Given the description of an element on the screen output the (x, y) to click on. 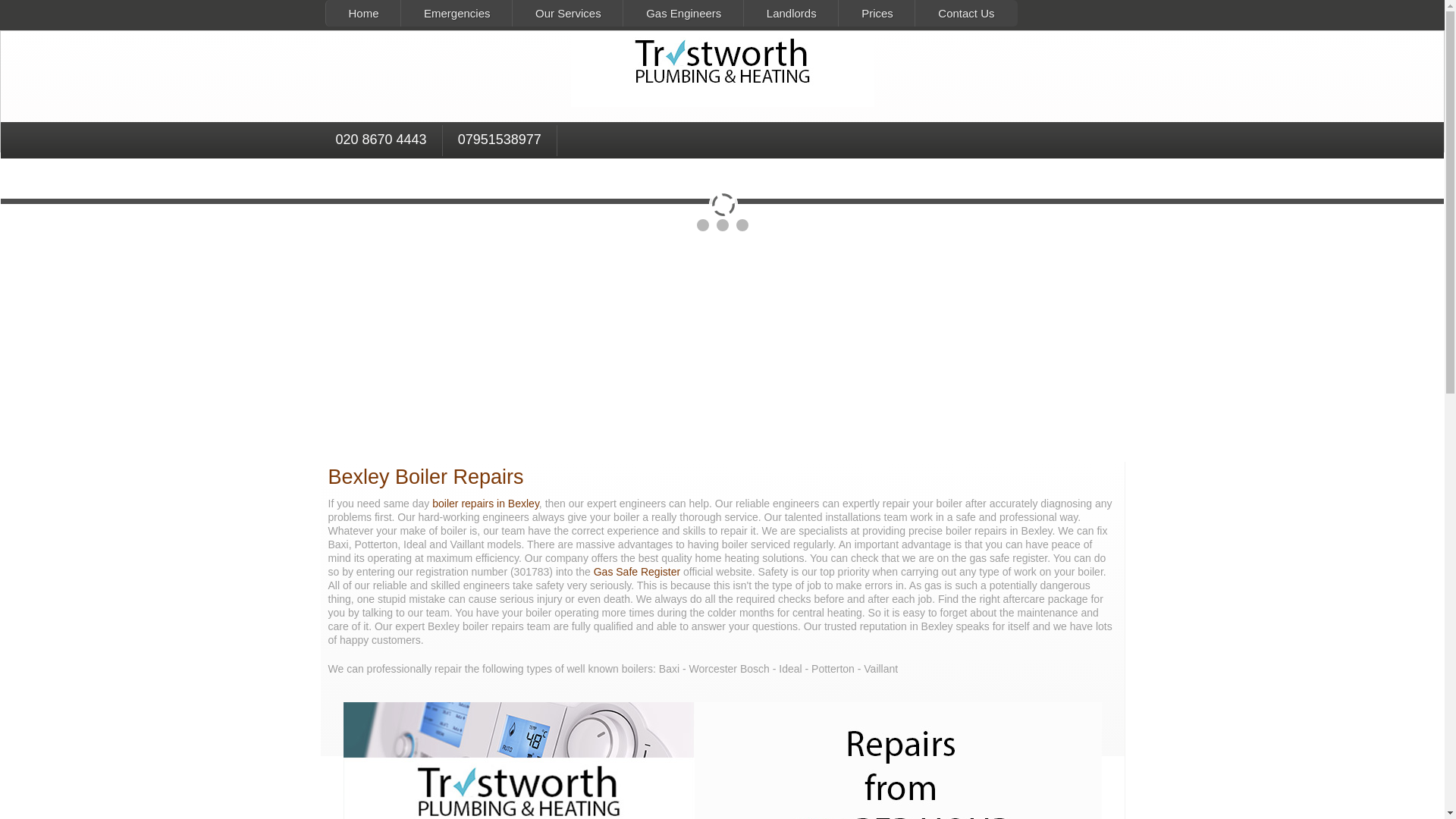
020 8670 4443 (381, 140)
07951538977 (499, 140)
boiler repairs in Bexley (485, 503)
logo (721, 69)
Gas Safe Register (635, 571)
Home (362, 13)
Prices (876, 13)
Emergencies (456, 13)
Contact Us (965, 13)
Landlords (791, 13)
